Given the description of an element on the screen output the (x, y) to click on. 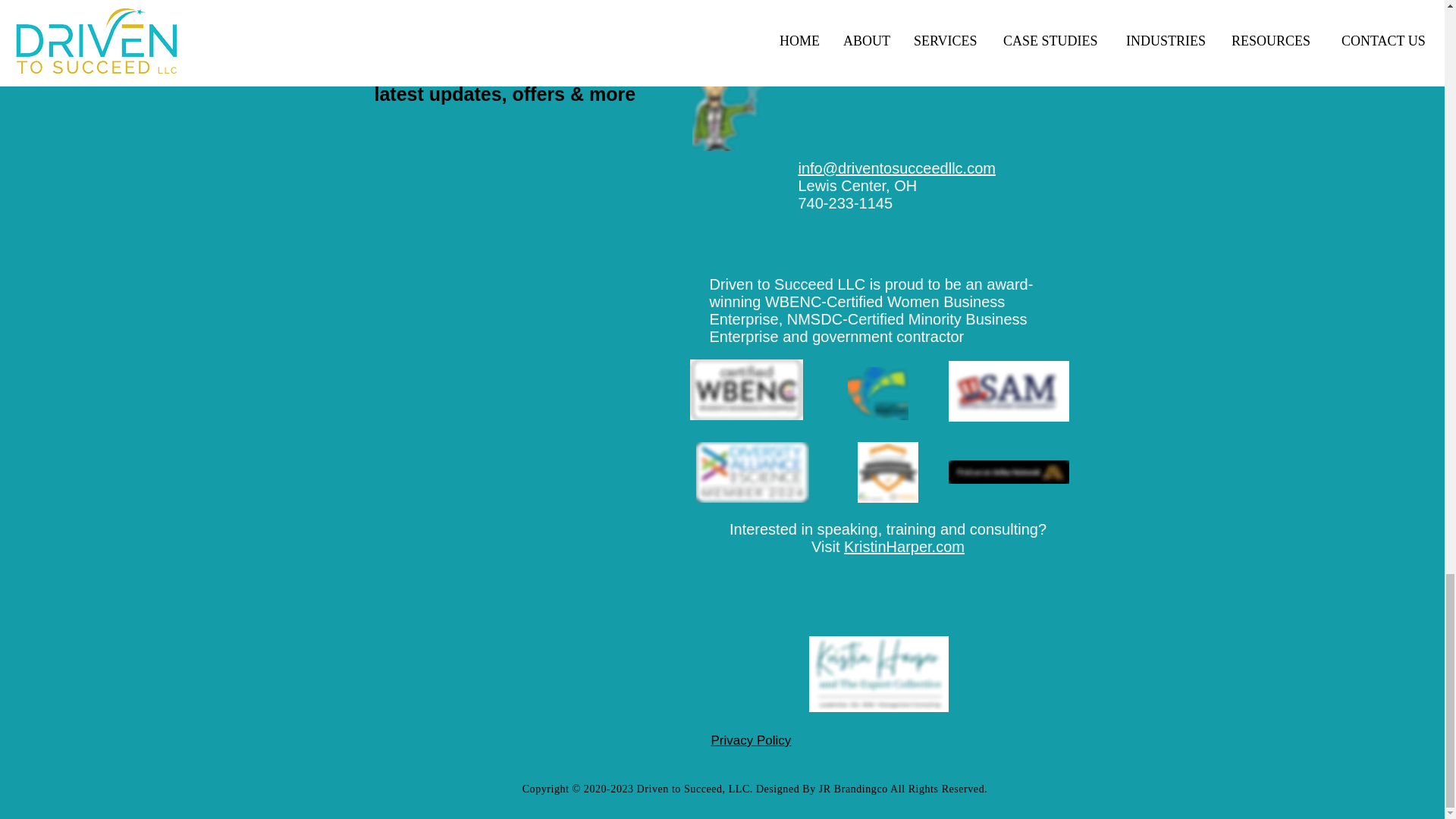
cyberreadymbe-certificate-of-completion. (887, 472)
